Given the description of an element on the screen output the (x, y) to click on. 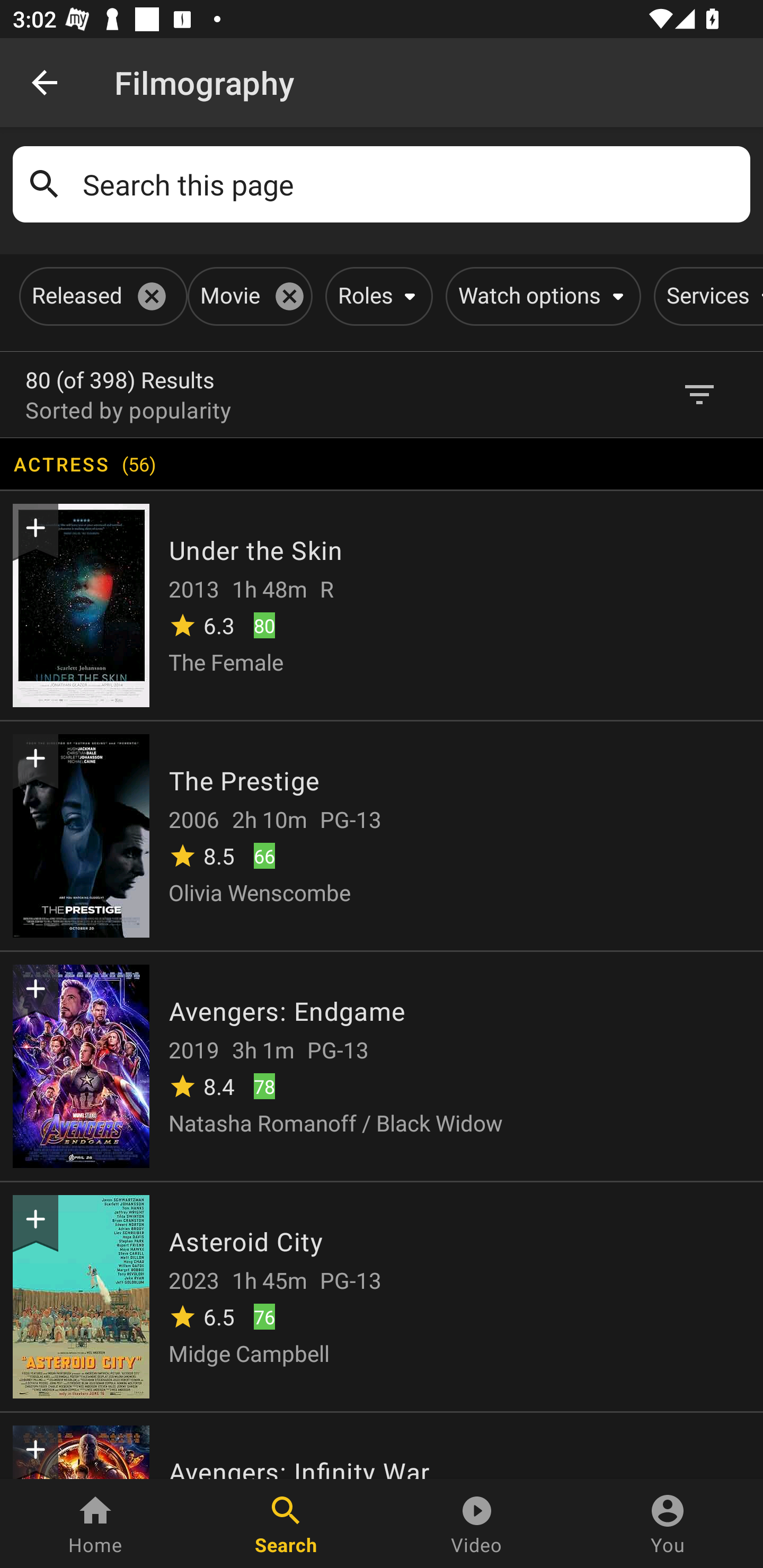
Search this page (410, 184)
Released (100, 296)
Movie (246, 296)
Roles (375, 296)
Watch options (539, 296)
Services (708, 296)
Under the Skin 2013 1h 48m R 6.3 80 The Female (381, 604)
Home (95, 1523)
Video (476, 1523)
You (667, 1523)
